Given the description of an element on the screen output the (x, y) to click on. 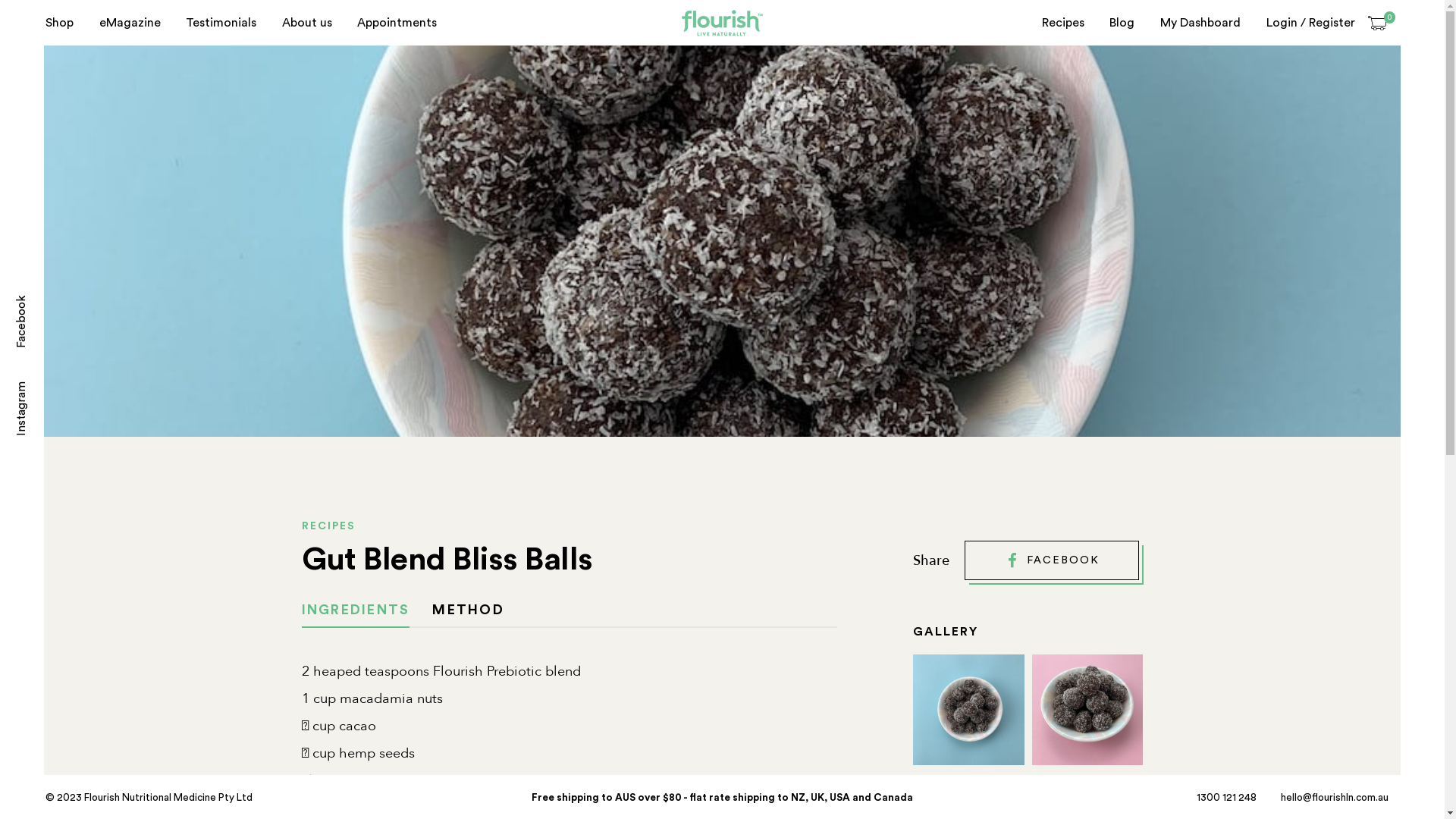
FACEBOOK Element type: text (1051, 560)
1300 121 248 Element type: text (1226, 797)
Facebook Element type: text (42, 300)
METHOD Element type: text (468, 609)
INGREDIENTS Element type: text (355, 609)
Instagram Element type: text (42, 386)
0 Element type: text (1376, 22)
hello@flourishln.com.au Element type: text (1334, 797)
